Given the description of an element on the screen output the (x, y) to click on. 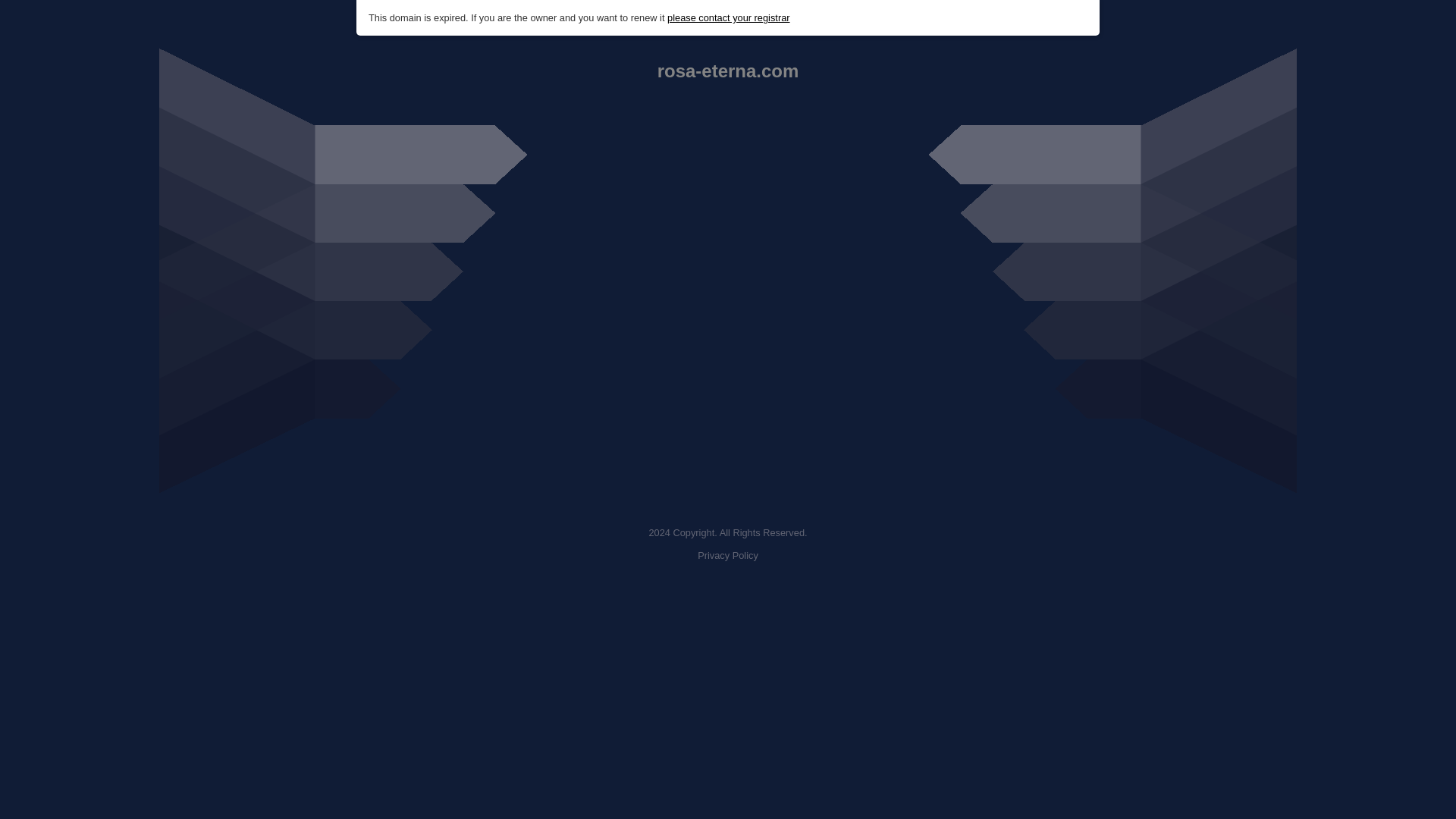
please contact your registrar (727, 17)
Privacy Policy (727, 555)
